Given the description of an element on the screen output the (x, y) to click on. 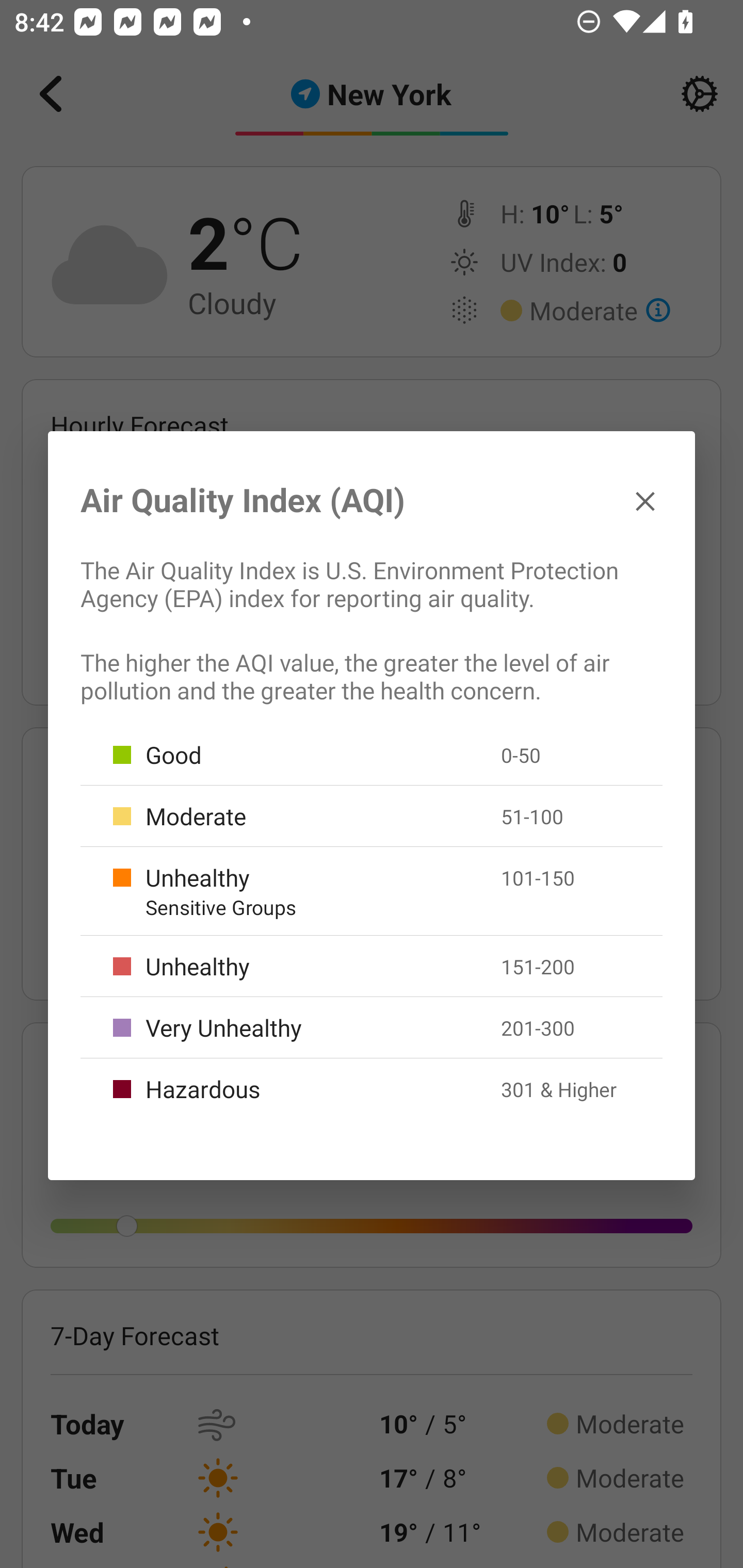
✕ (644, 499)
